Given the description of an element on the screen output the (x, y) to click on. 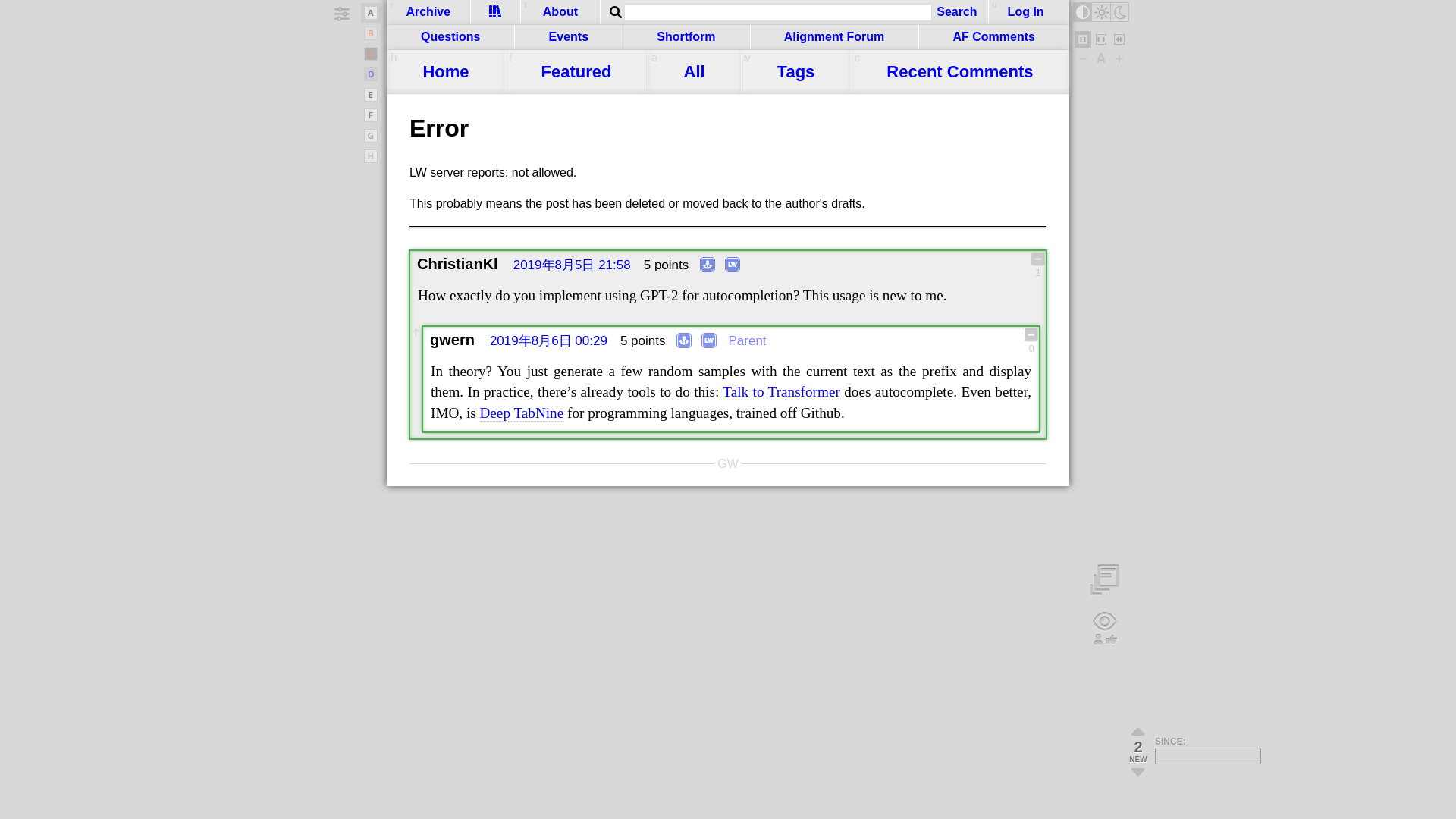
4 votes (665, 264)
Archive (428, 12)
AF Comments (993, 37)
Search (956, 12)
Sequences (495, 11)
Latest featured posts (576, 71)
F (1118, 39)
About (559, 12)
G (370, 115)
Tags (795, 71)
